Given the description of an element on the screen output the (x, y) to click on. 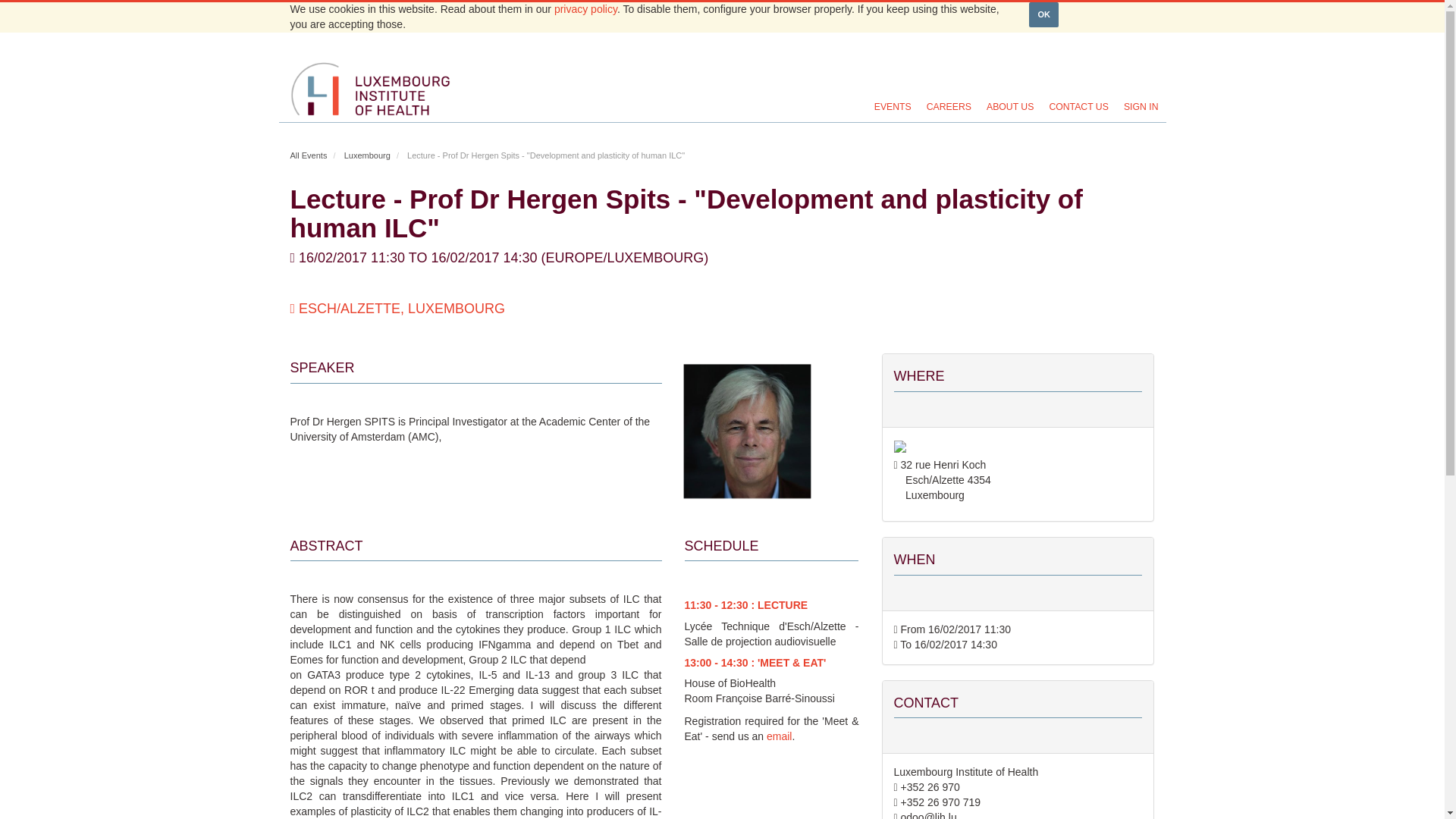
CAREERS (948, 106)
EVENTS (892, 106)
privacy policy (585, 9)
CONTACT US (1078, 106)
SIGN IN (1141, 106)
ABOUT US (1009, 106)
email (779, 736)
Luxembourg (366, 154)
OK (1043, 14)
All Events (307, 154)
Luxembourg Institute of Health (369, 88)
